Given the description of an element on the screen output the (x, y) to click on. 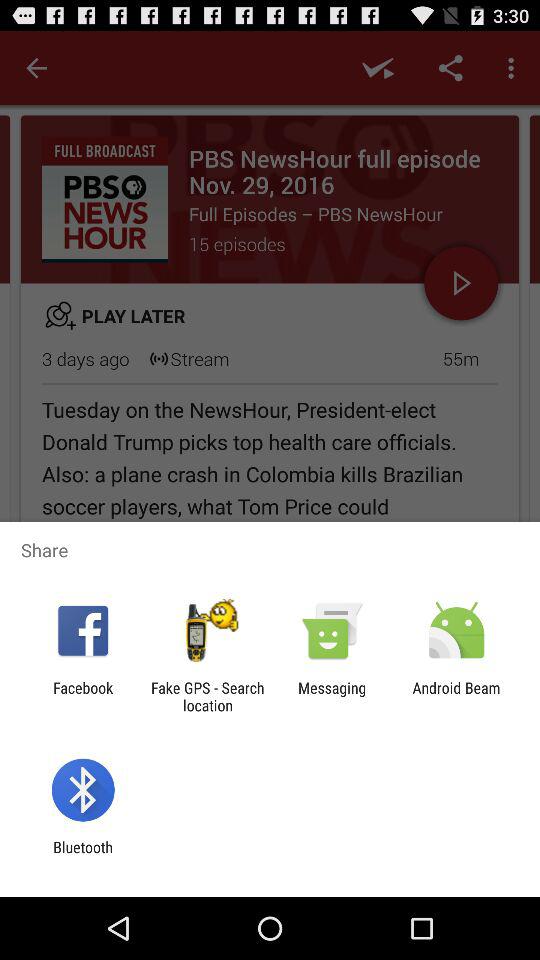
choose the android beam at the bottom right corner (456, 696)
